Given the description of an element on the screen output the (x, y) to click on. 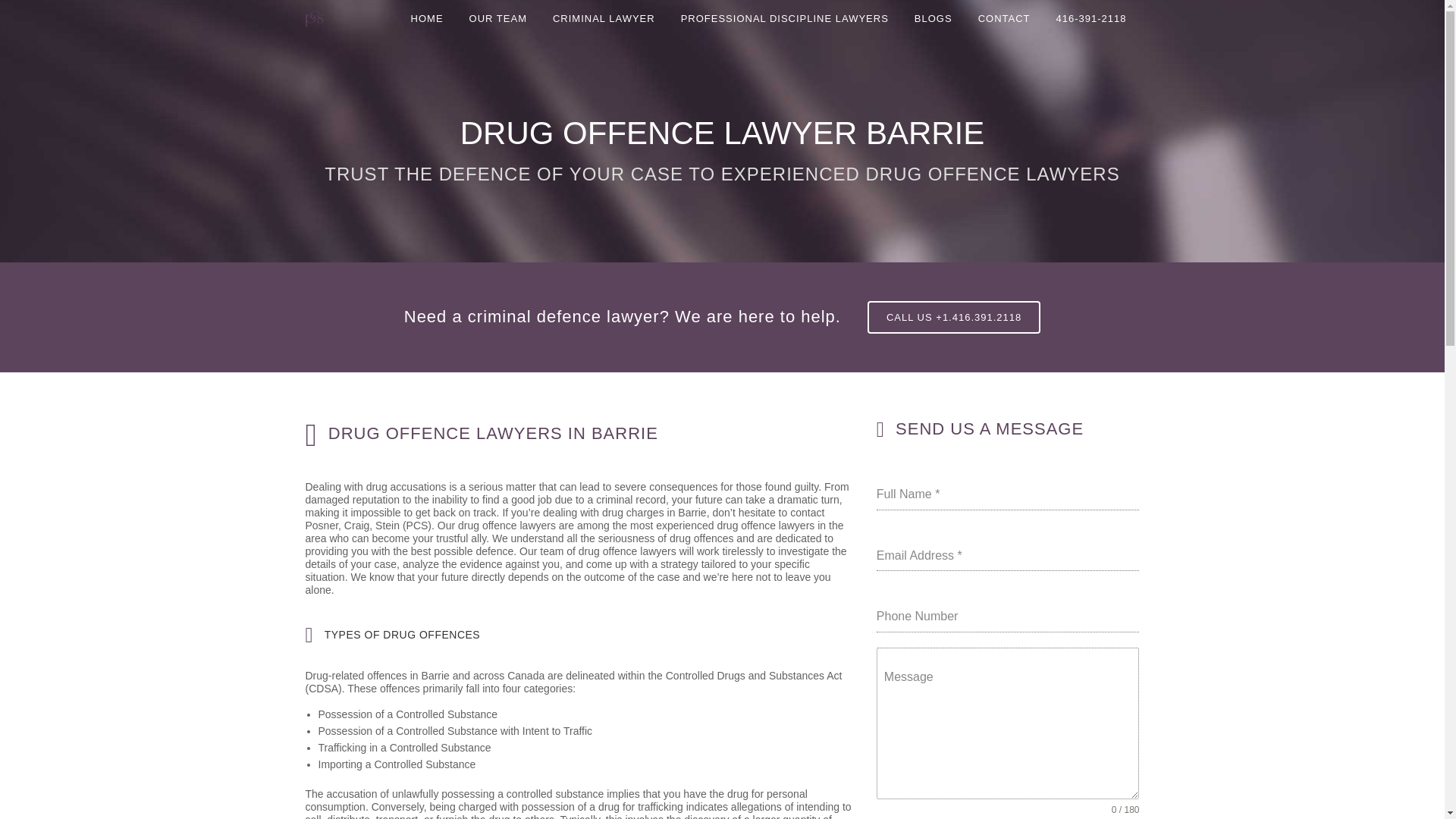
OUR TEAM (498, 18)
HOME (427, 18)
PROFESSIONAL DISCIPLINE LAWYERS (784, 18)
CRIMINAL LAWYER (604, 18)
